Given the description of an element on the screen output the (x, y) to click on. 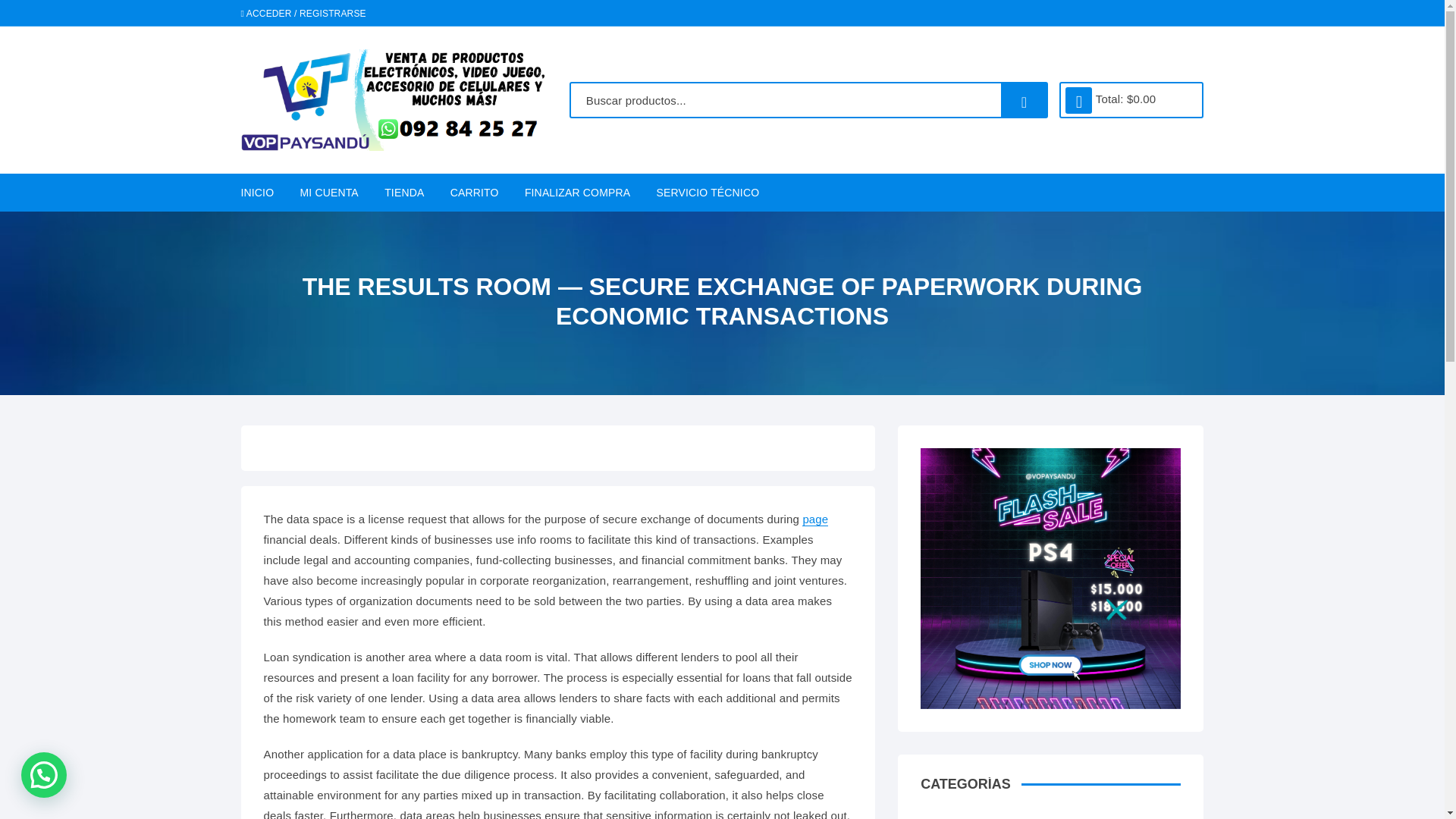
CARRITO (475, 192)
INICIO (263, 192)
MI CUENTA (328, 192)
TIENDA (403, 192)
FINALIZAR COMPRA (577, 192)
page (815, 519)
ps2 paysandu (1050, 577)
Celulares (1030, 816)
